Given the description of an element on the screen output the (x, y) to click on. 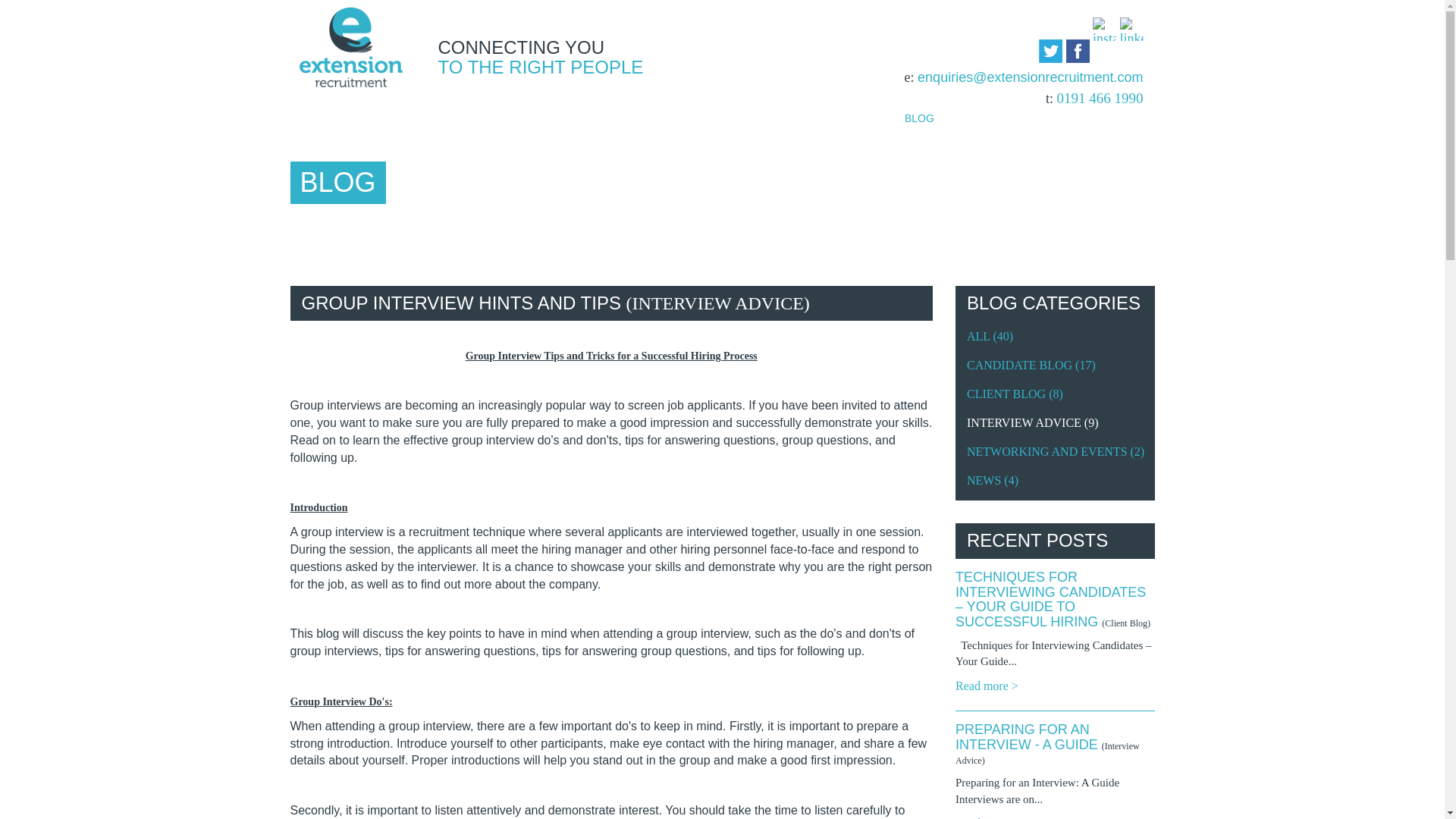
VACANCIES (721, 118)
BLOG (918, 118)
HOME (328, 118)
TESTIMONIALS (820, 118)
ABOUT (426, 118)
CLIENTS (622, 118)
GET IN TOUCH (1017, 118)
CANDIDATES (524, 118)
